Given the description of an element on the screen output the (x, y) to click on. 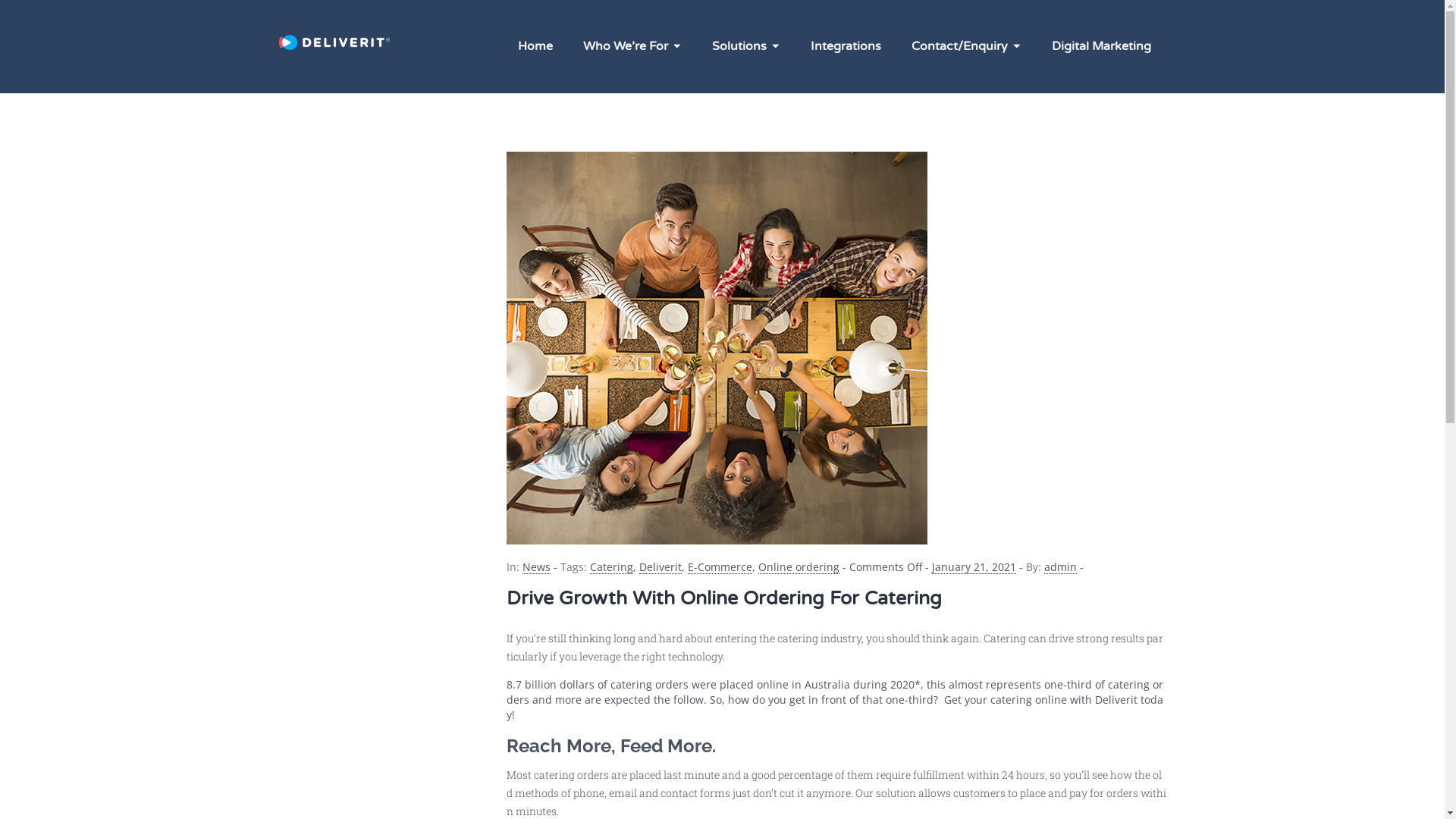
Home Element type: text (534, 46)
Catering Element type: text (611, 566)
Deliverit Element type: text (659, 566)
E-Commerce Element type: text (719, 566)
Solutions Element type: text (745, 46)
Drive Growth With Online Ordering For Catering Element type: text (723, 598)
Online ordering Element type: text (798, 566)
News Element type: text (535, 566)
Integrations Element type: text (844, 46)
Digital Marketing Element type: text (1100, 46)
Contact/Enquiry Element type: text (966, 46)
January 21, 2021 Element type: text (973, 566)
admin Element type: text (1059, 566)
